Given the description of an element on the screen output the (x, y) to click on. 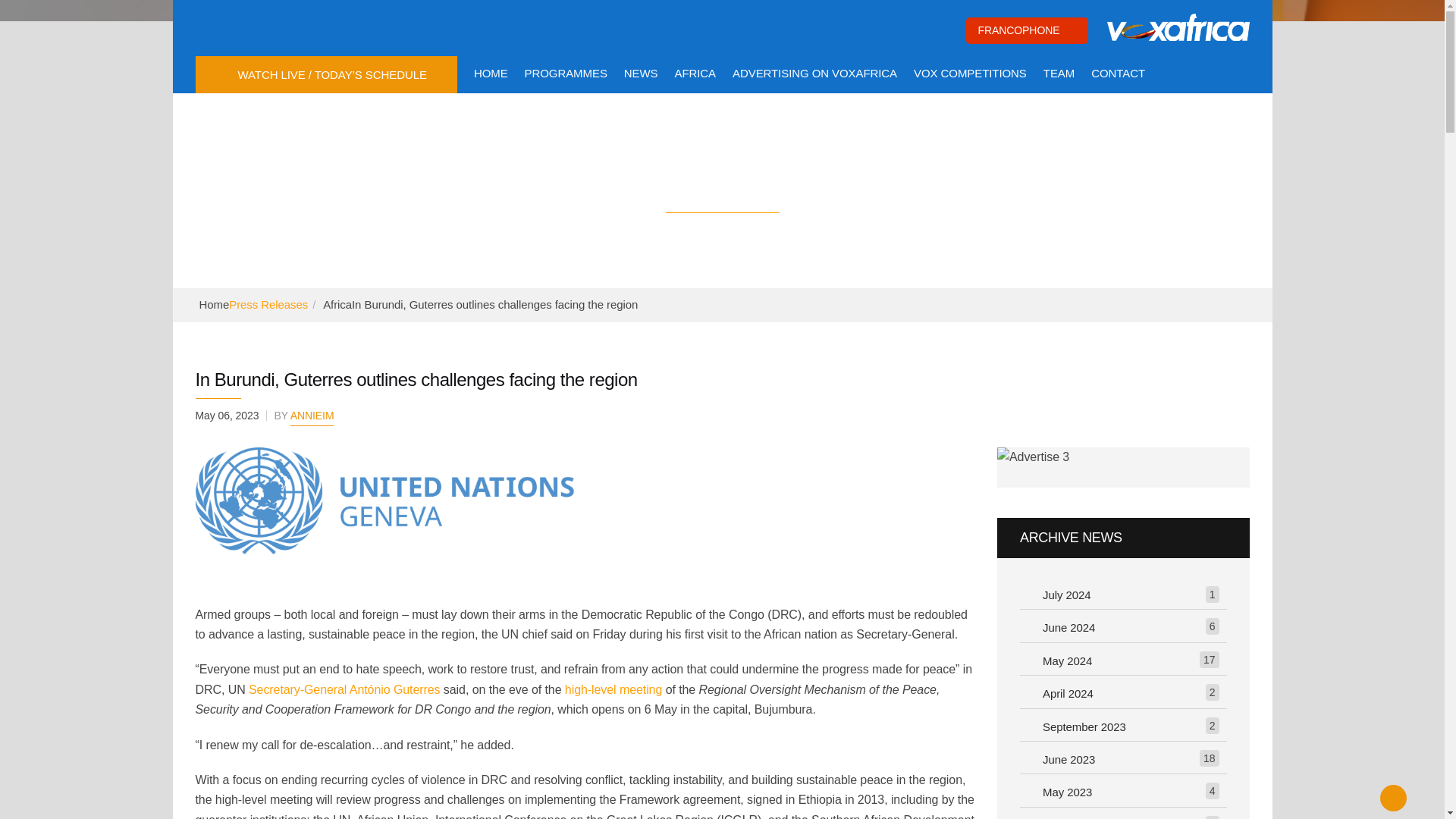
high-level meeting (613, 689)
Youtube (274, 25)
Go to Press Releases. (267, 304)
Home (213, 304)
Twitter (240, 25)
TEAM (1058, 73)
AFRICA (695, 73)
ADVERTISING ON VOXAFRICA (814, 73)
In Burundi, Guterres outlines challenges facing the region (385, 501)
HOME (491, 73)
FRANCOPHONE (1026, 30)
NEWS (641, 73)
PROGRAMMES (565, 73)
ANNIEIM (311, 417)
Africa (337, 304)
